Given the description of an element on the screen output the (x, y) to click on. 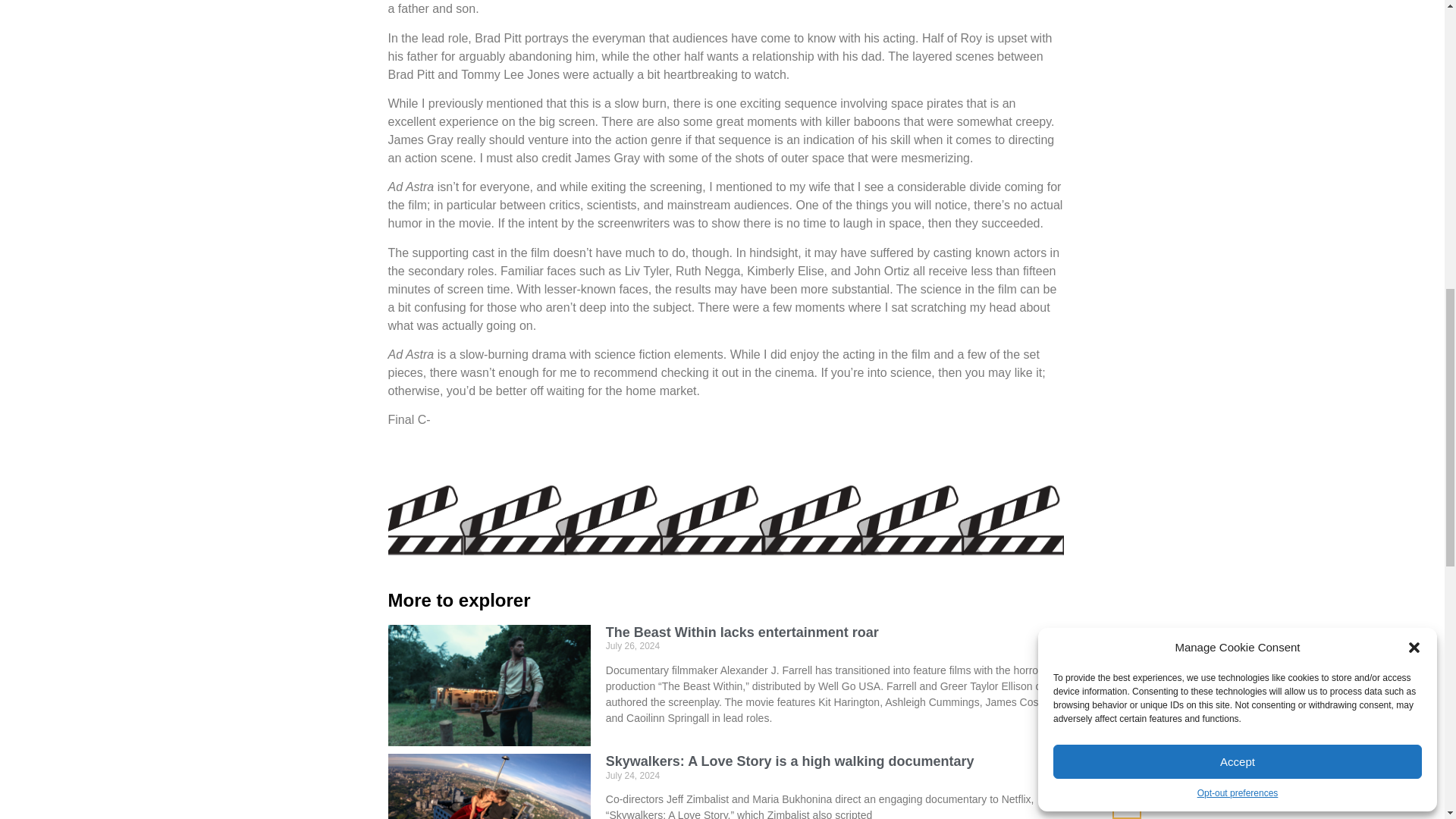
The Beast Within lacks entertainment roar (742, 631)
Skywalkers: A Love Story is a high walking documentary (789, 761)
